Given the description of an element on the screen output the (x, y) to click on. 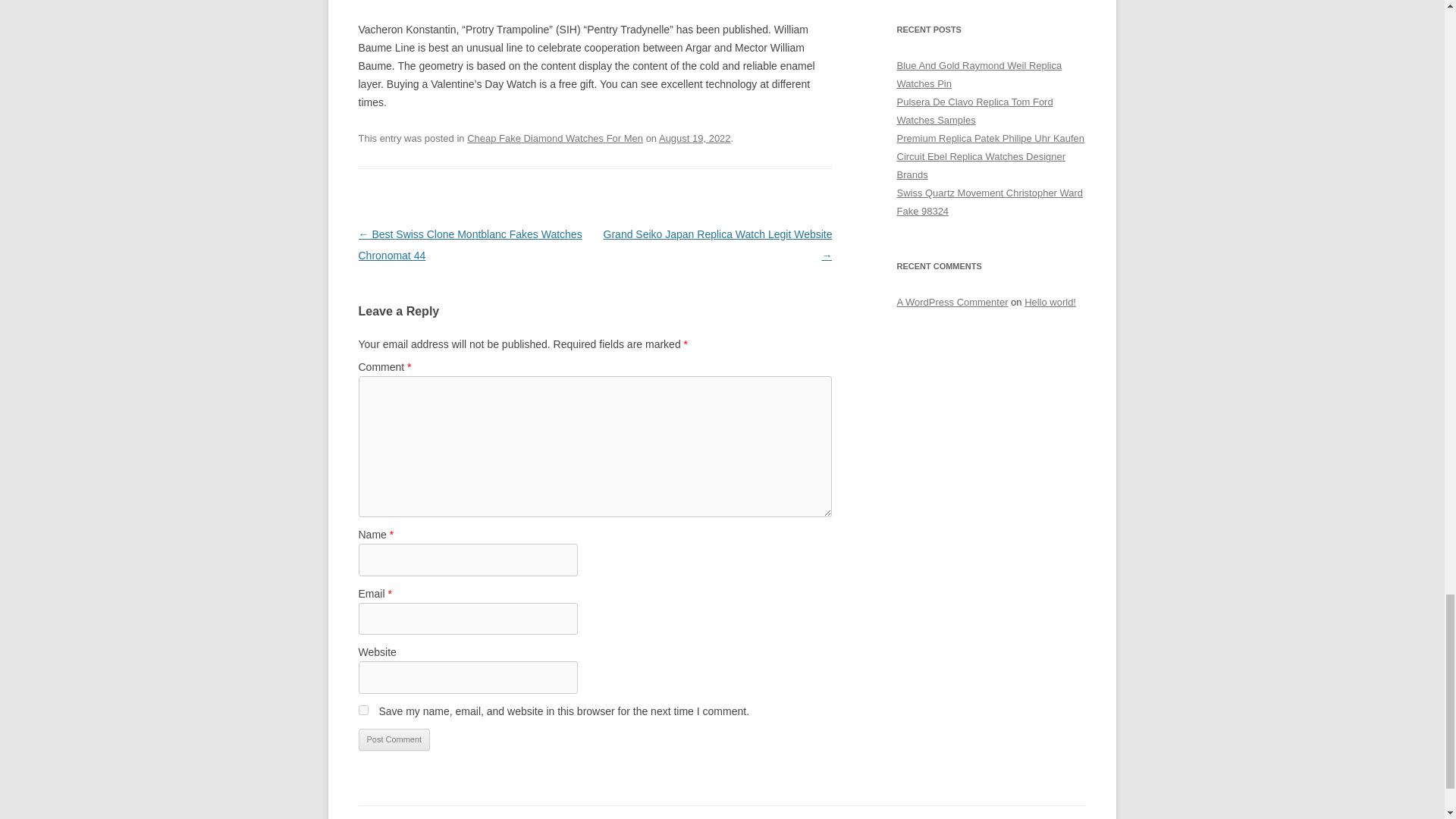
yes (363, 709)
August 19, 2022 (694, 138)
10:47 am (694, 138)
Cheap Fake Diamond Watches For Men (555, 138)
Post Comment (393, 739)
Post Comment (393, 739)
